Given the description of an element on the screen output the (x, y) to click on. 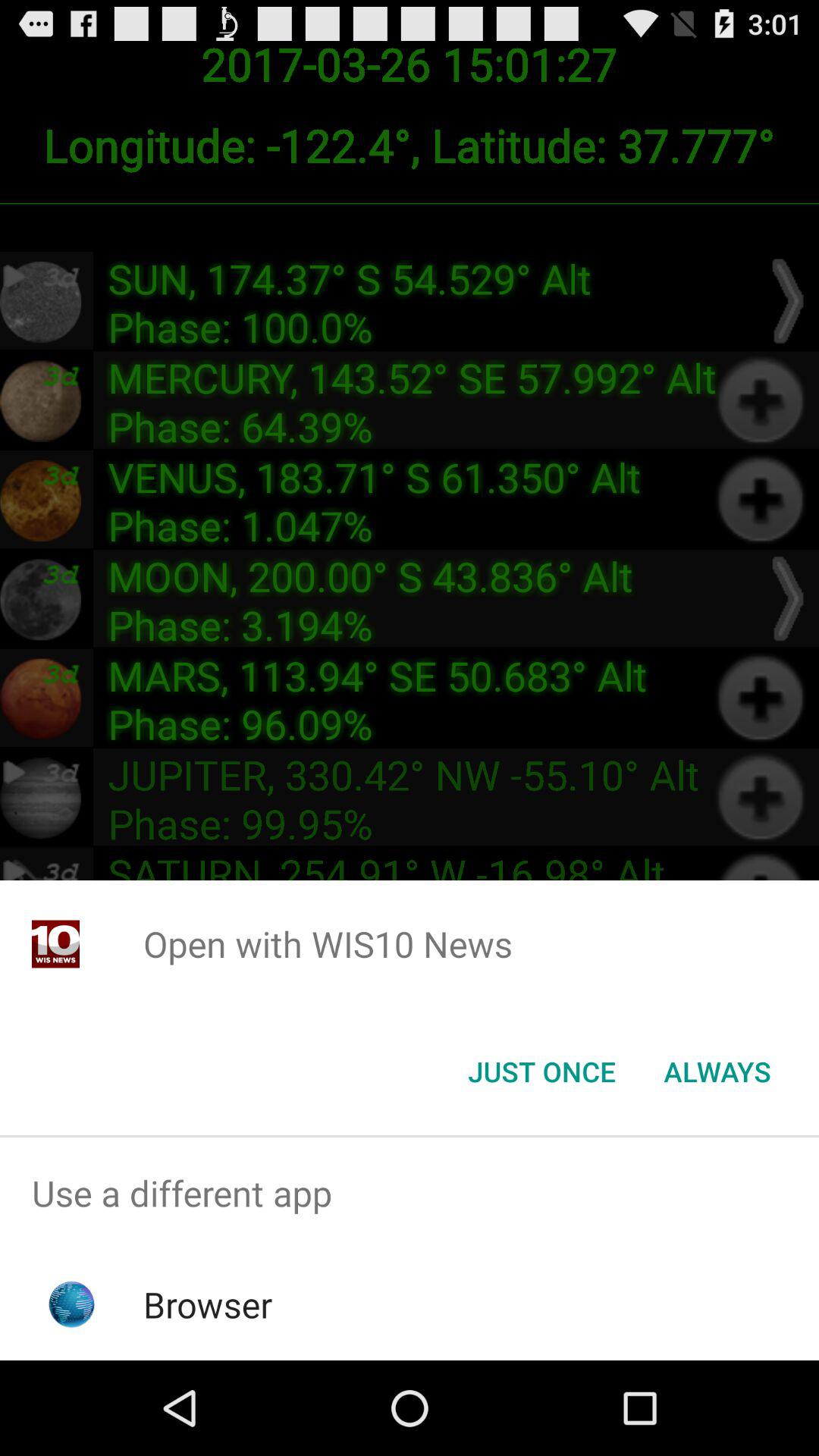
open the app below use a different icon (207, 1304)
